Given the description of an element on the screen output the (x, y) to click on. 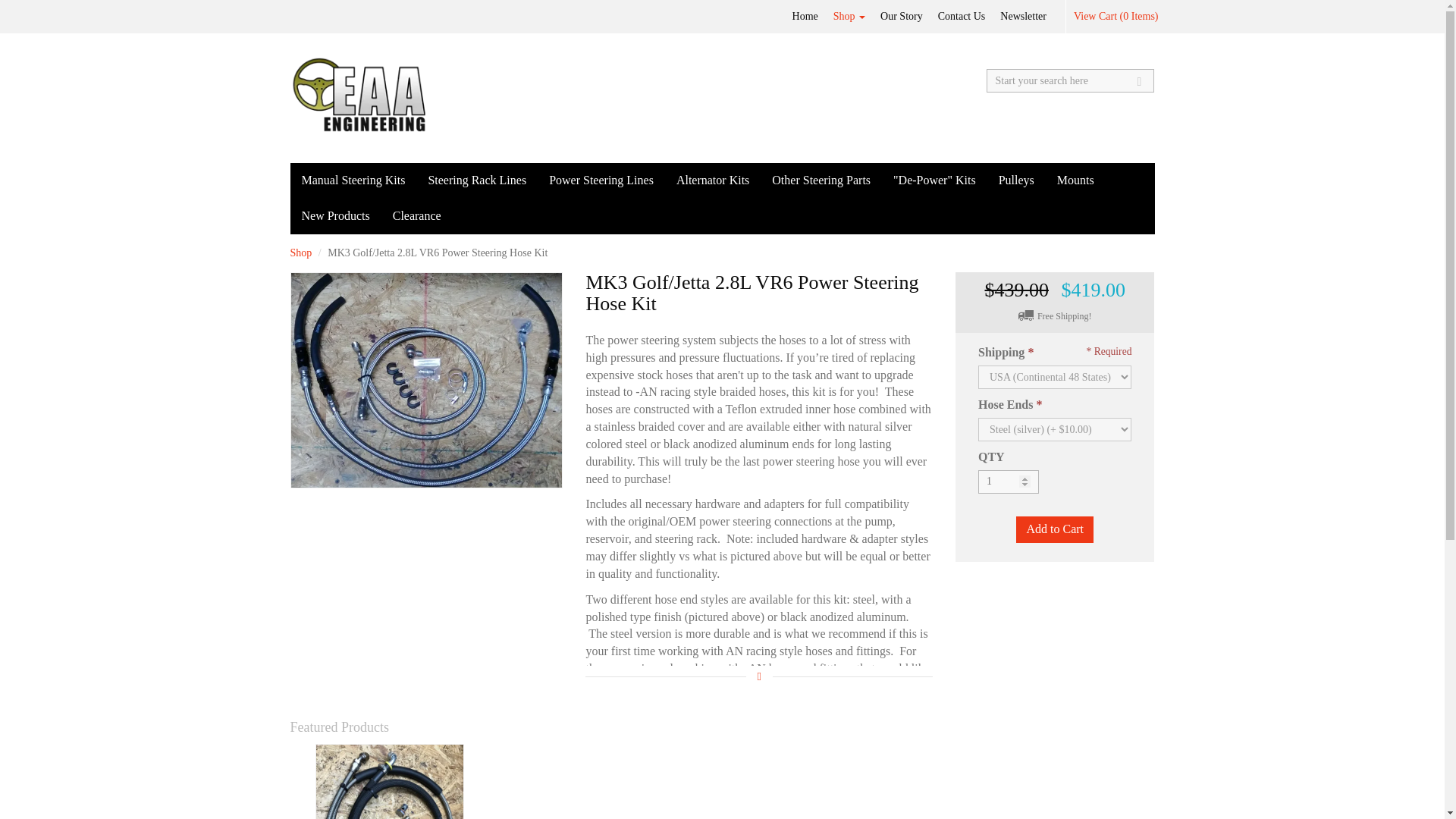
Our Story (901, 16)
Mounts (1075, 180)
Manual Steering Kits (352, 180)
Power Steering Lines (601, 180)
Newsletter (1023, 16)
New Products (334, 216)
Add to Cart (1054, 529)
1 (1008, 481)
Shop (848, 16)
Other Steering Parts (821, 180)
